Given the description of an element on the screen output the (x, y) to click on. 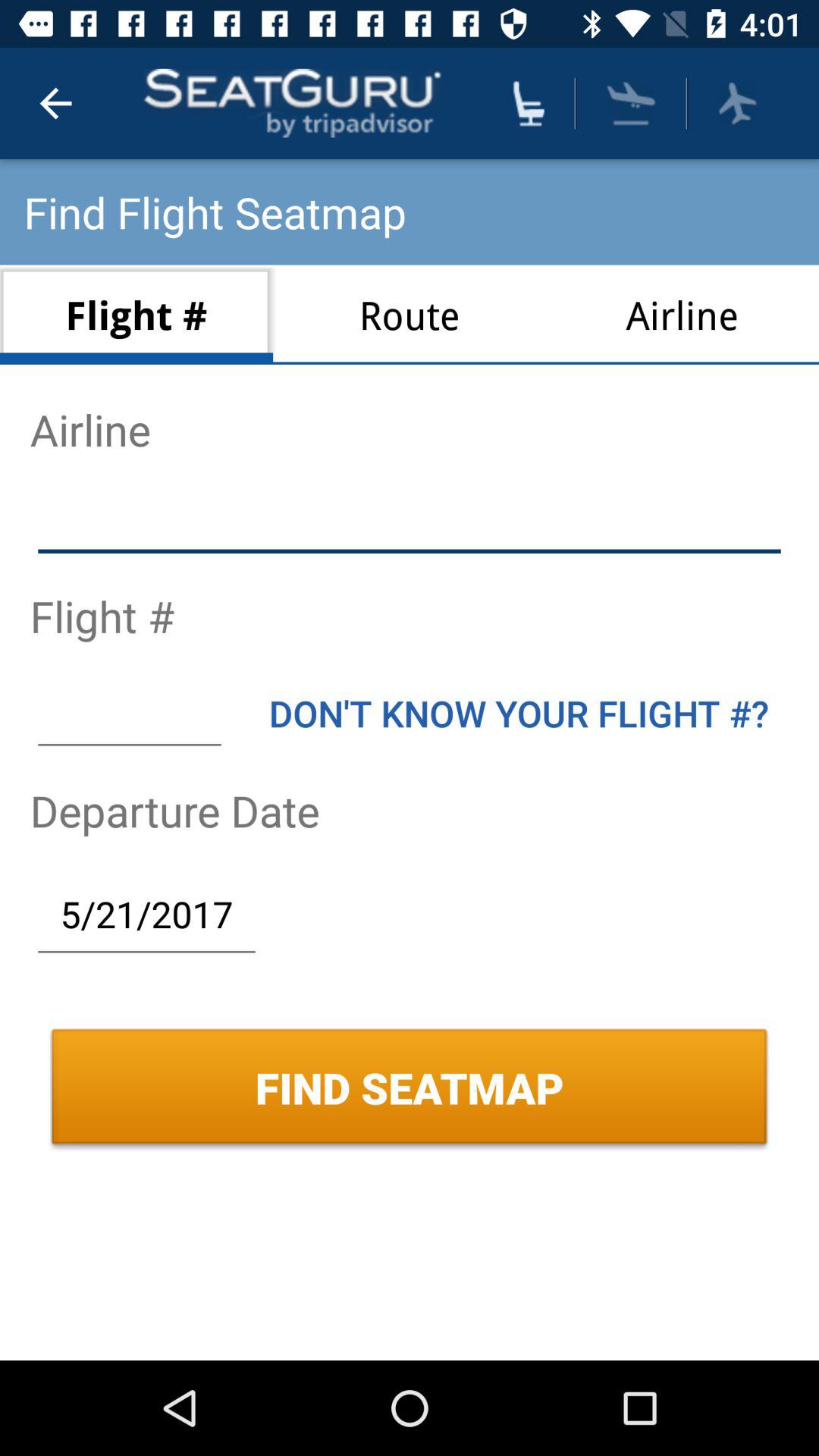
tap the route item (409, 314)
